Given the description of an element on the screen output the (x, y) to click on. 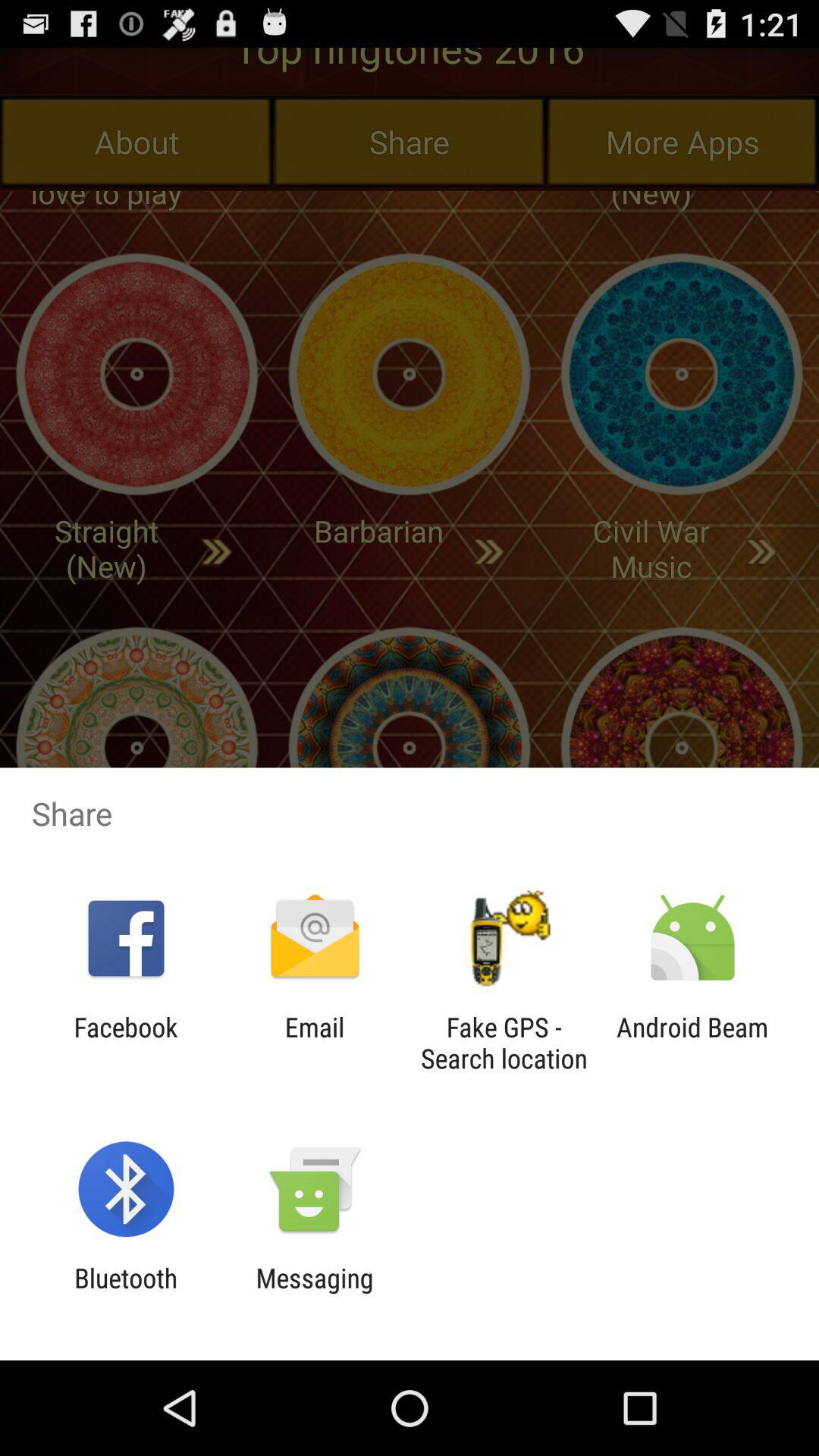
tap item next to bluetooth (314, 1293)
